Given the description of an element on the screen output the (x, y) to click on. 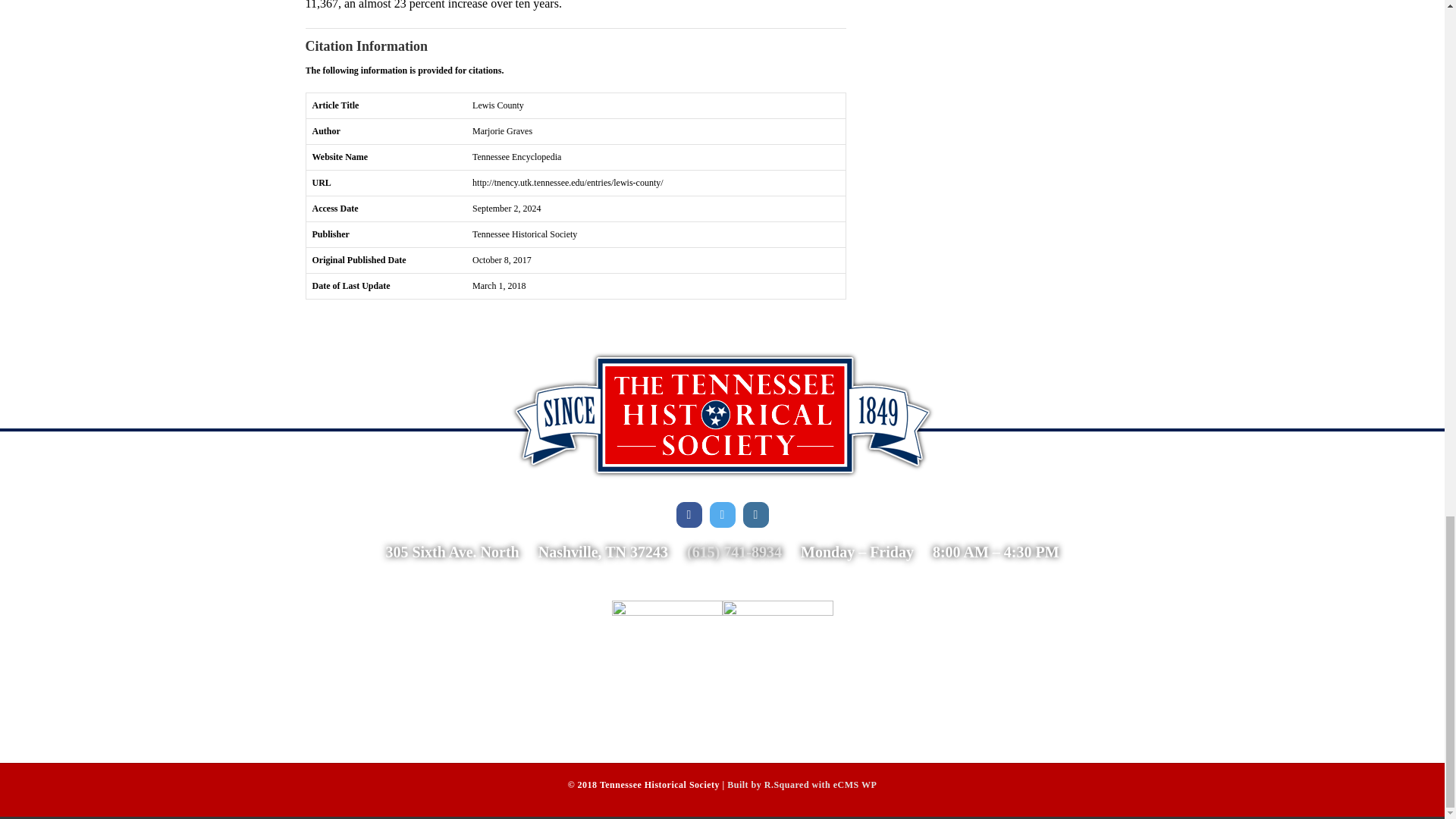
Twitter (722, 514)
Facebook (689, 514)
Instagram (755, 514)
